Given the description of an element on the screen output the (x, y) to click on. 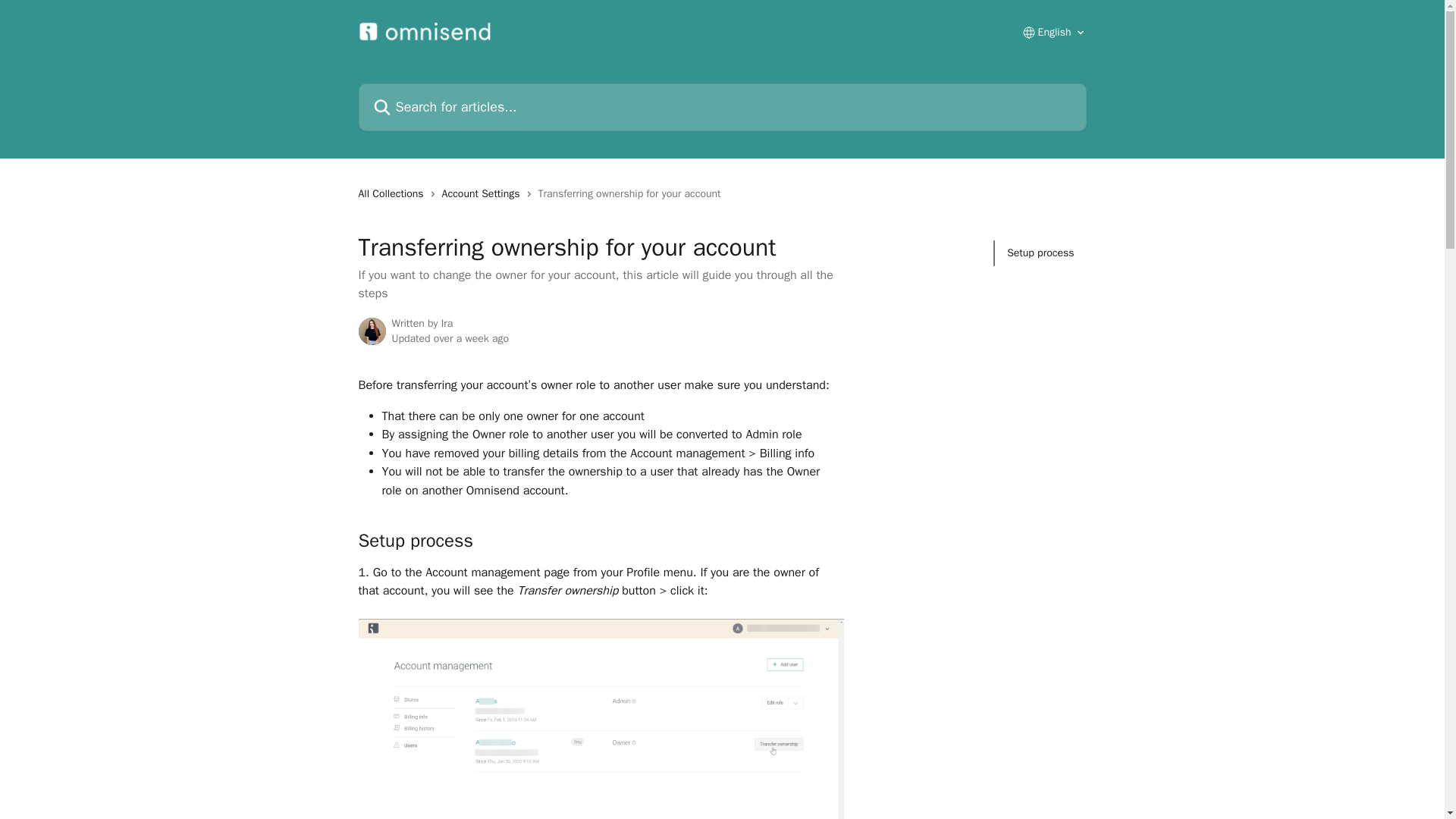
All Collections (393, 193)
Setup process (1040, 252)
Account Settings (483, 193)
